Given the description of an element on the screen output the (x, y) to click on. 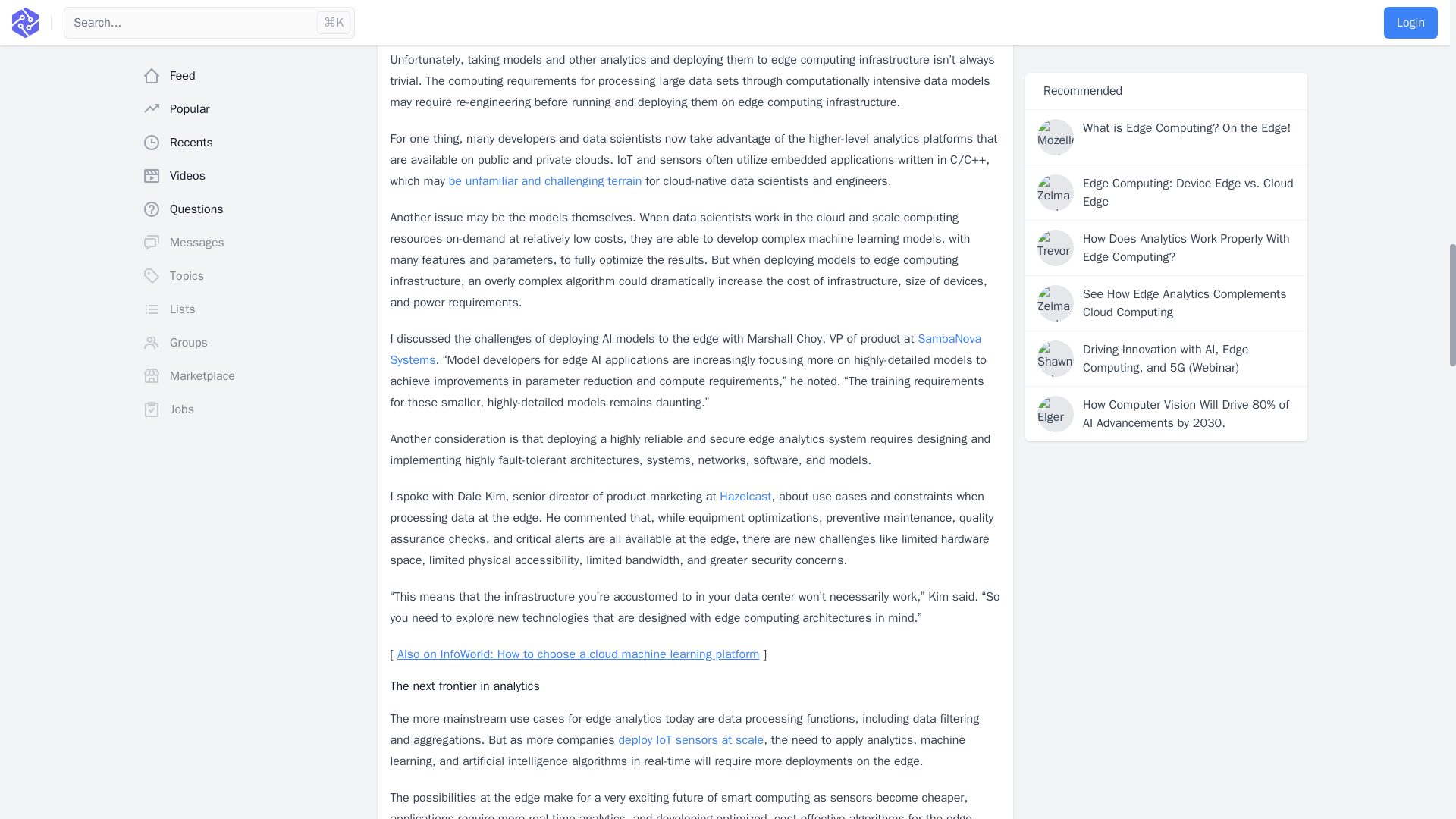
SambaNova Systems (685, 349)
be unfamiliar and challenging terrain (545, 181)
deploy IoT sensors at scale (689, 739)
Hazelcast (745, 496)
